Given the description of an element on the screen output the (x, y) to click on. 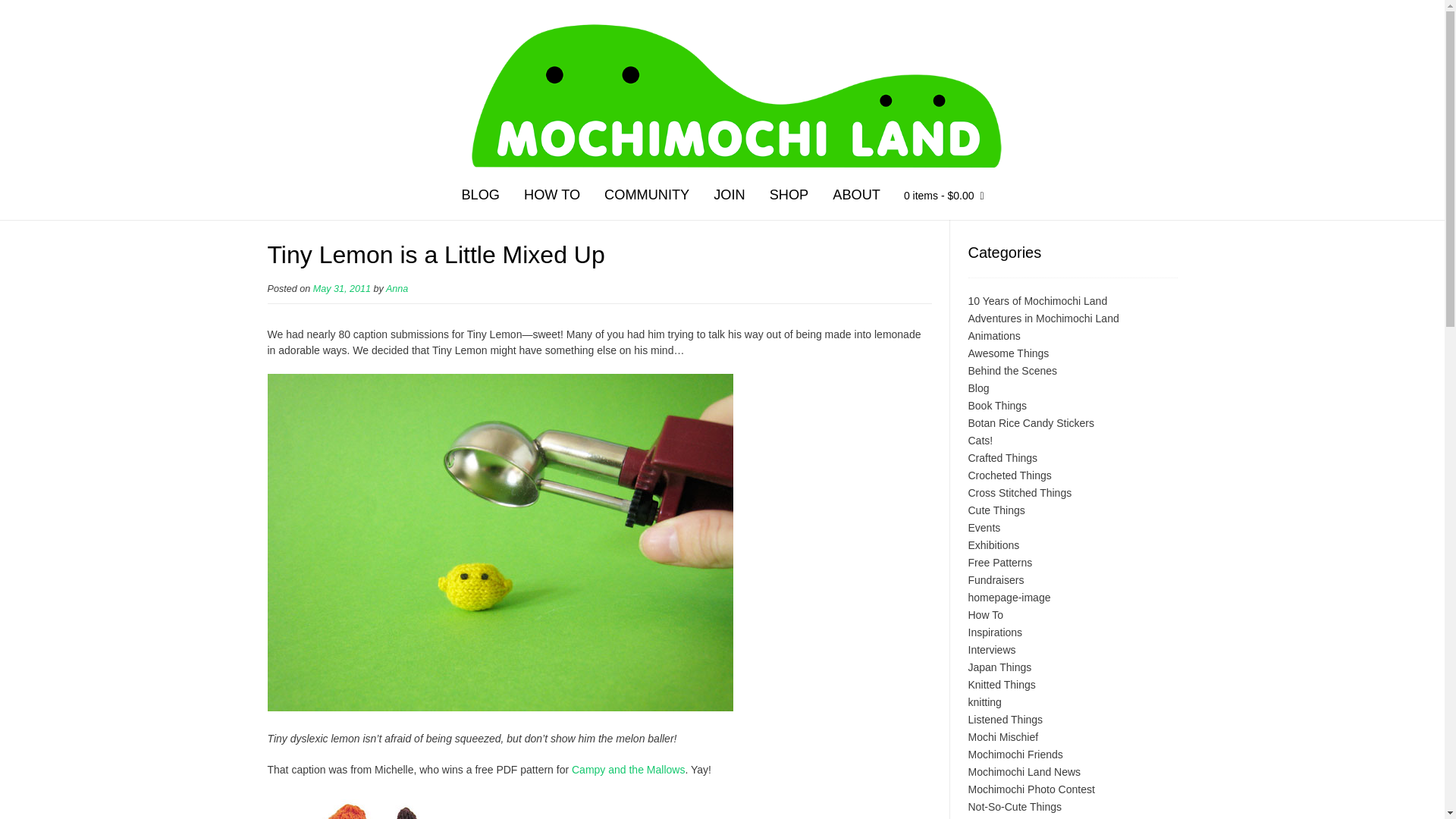
Anna (396, 288)
Book Things (997, 405)
HOW TO (552, 197)
Blog (978, 387)
COMMUNITY (646, 197)
Awesome Things (1008, 353)
Behind the Scenes (1012, 370)
JOIN (729, 197)
Botan Rice Candy Stickers (1031, 422)
View your shopping cart (943, 198)
